Given the description of an element on the screen output the (x, y) to click on. 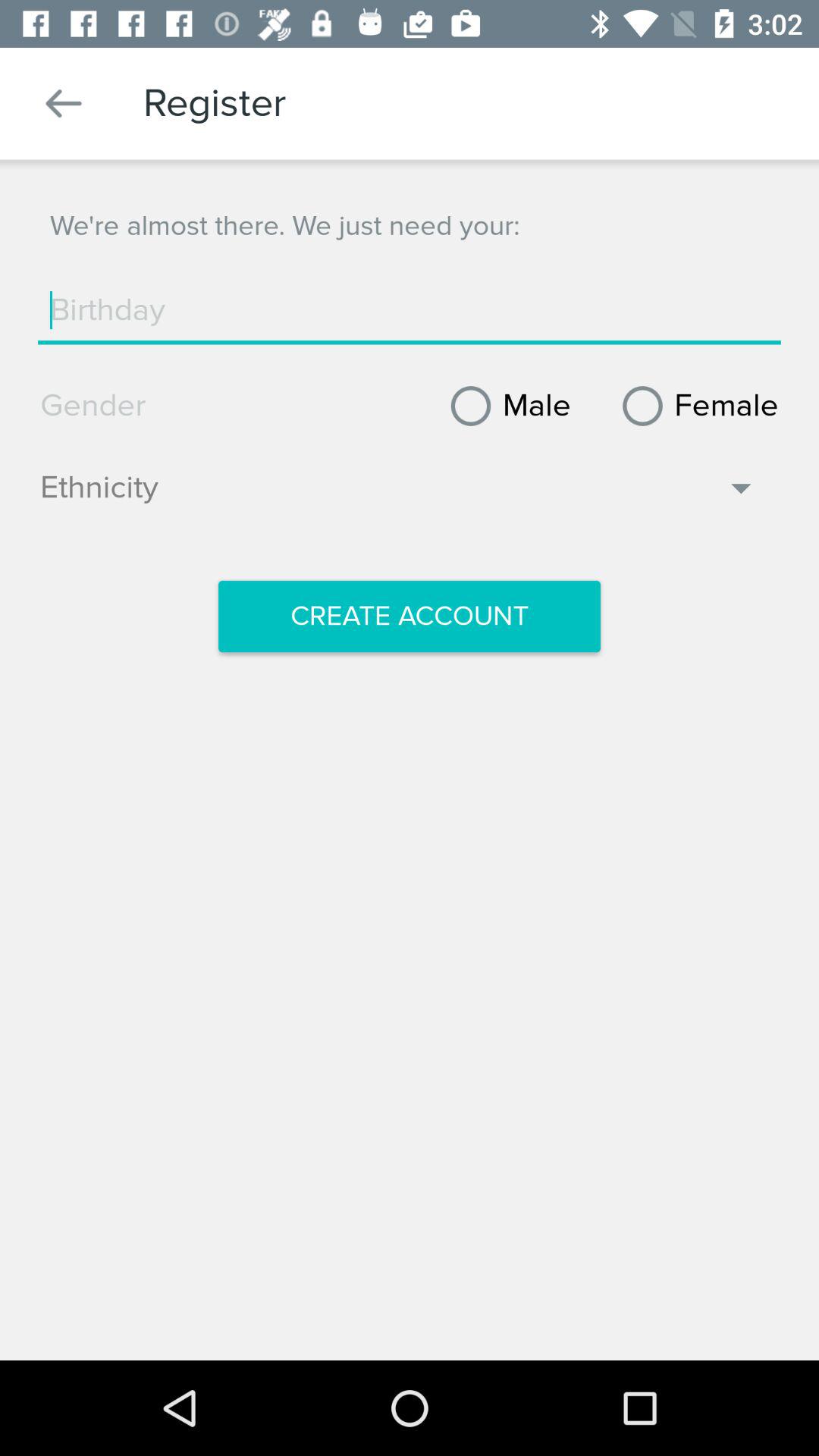
choose ethnicity (399, 494)
